Given the description of an element on the screen output the (x, y) to click on. 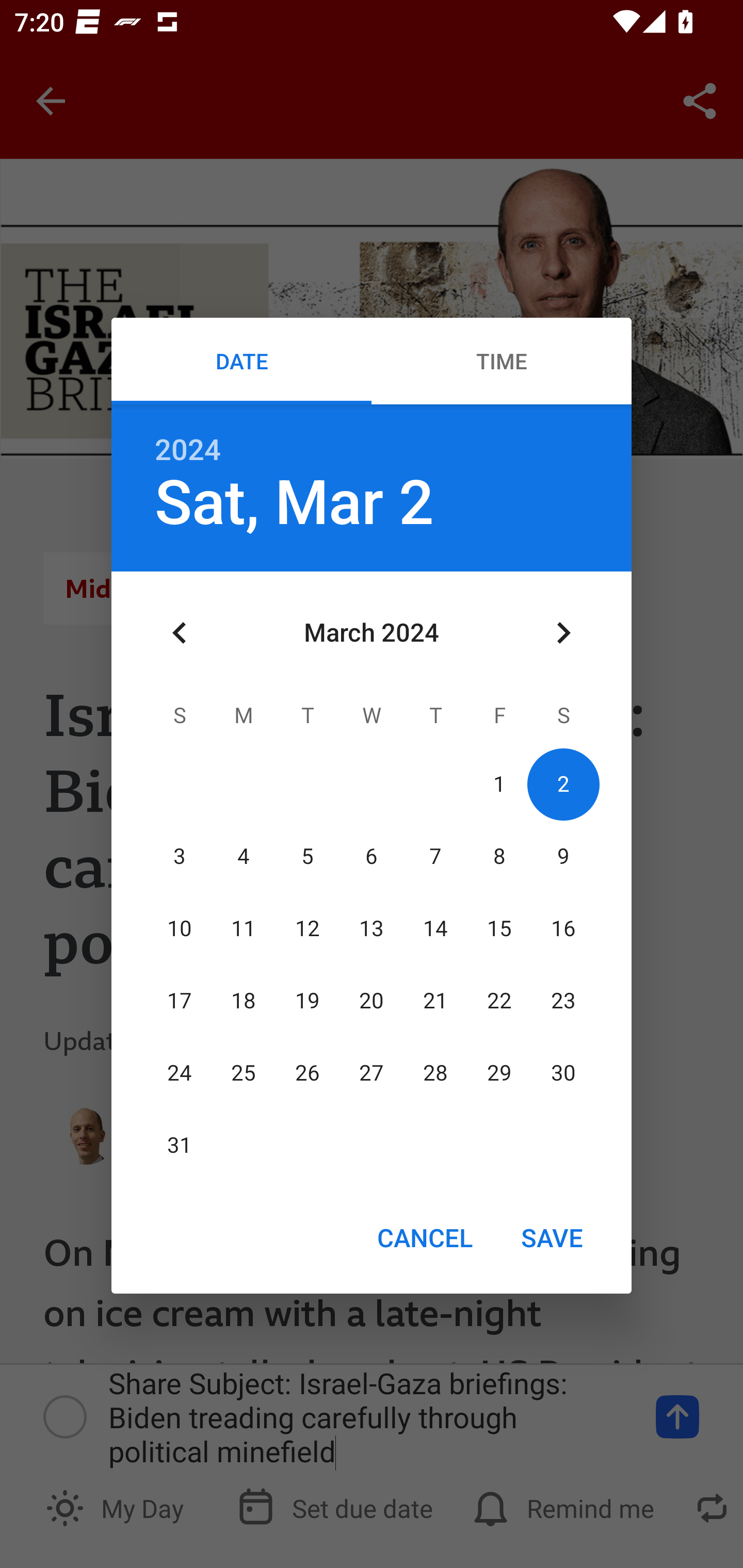
Date DATE (241, 361)
Time TIME (501, 361)
2024 (187, 449)
Sat, Mar 2 (293, 503)
Previous month (178, 632)
Next month (563, 632)
1 01 March 2024 (499, 783)
2 02 March 2024 (563, 783)
3 03 March 2024 (179, 856)
4 04 March 2024 (243, 856)
5 05 March 2024 (307, 856)
6 06 March 2024 (371, 856)
7 07 March 2024 (435, 856)
8 08 March 2024 (499, 856)
9 09 March 2024 (563, 856)
10 10 March 2024 (179, 928)
11 11 March 2024 (243, 928)
12 12 March 2024 (307, 928)
13 13 March 2024 (371, 928)
14 14 March 2024 (435, 928)
15 15 March 2024 (499, 928)
16 16 March 2024 (563, 928)
17 17 March 2024 (179, 1001)
18 18 March 2024 (243, 1001)
19 19 March 2024 (307, 1001)
20 20 March 2024 (371, 1001)
21 21 March 2024 (435, 1001)
22 22 March 2024 (499, 1001)
23 23 March 2024 (563, 1001)
24 24 March 2024 (179, 1074)
25 25 March 2024 (243, 1074)
26 26 March 2024 (307, 1074)
27 27 March 2024 (371, 1074)
28 28 March 2024 (435, 1074)
29 29 March 2024 (499, 1074)
30 30 March 2024 (563, 1074)
31 31 March 2024 (179, 1146)
CANCEL (424, 1236)
SAVE (552, 1236)
